Given the description of an element on the screen output the (x, y) to click on. 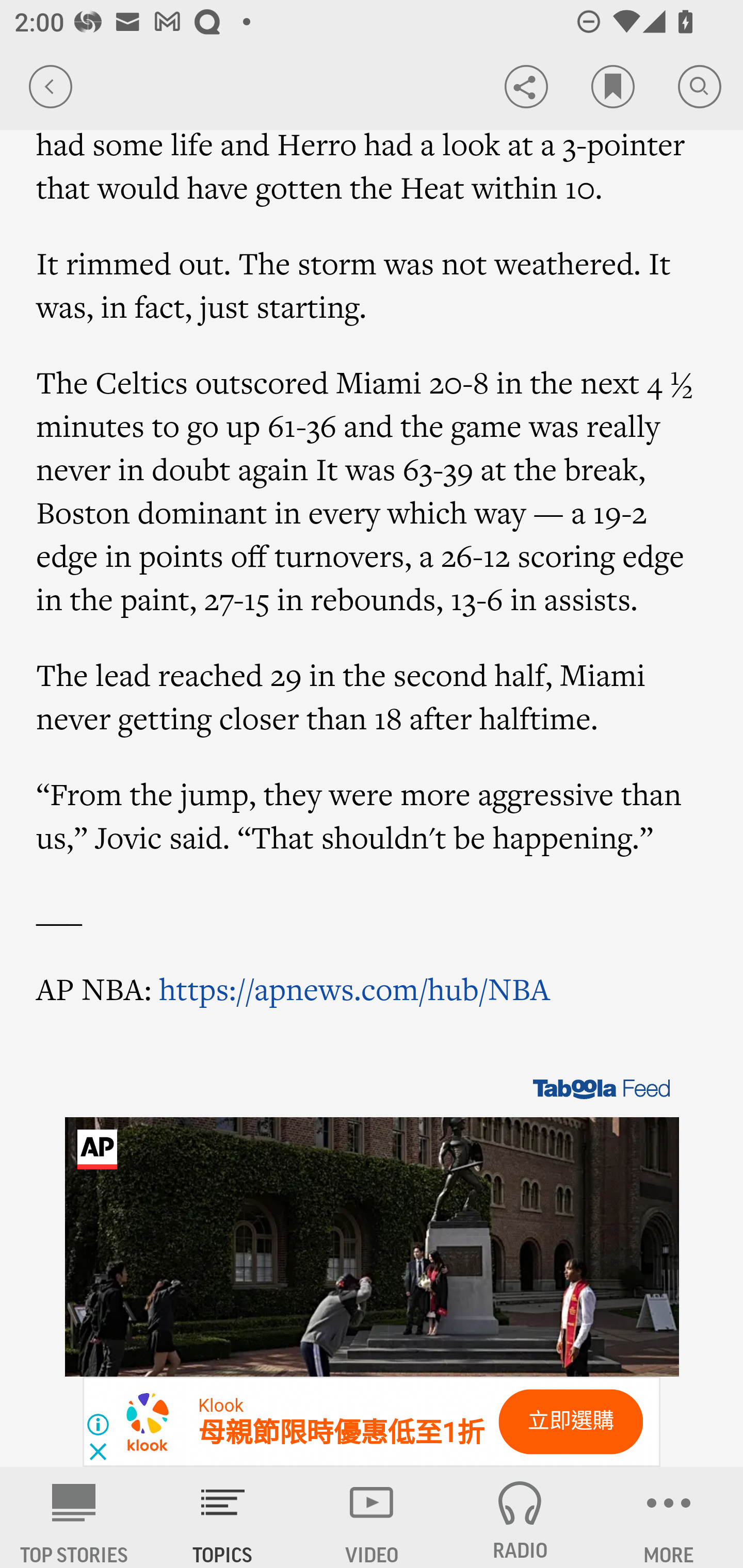
https://apnews.com/hub/NBA (354, 988)
立即選購 Klook 母親節限時優惠低至1折 立即選購 Klook 母親節限時優惠低至1折 (371, 1421)
AP News TOP STORIES (74, 1517)
TOPICS (222, 1517)
VIDEO (371, 1517)
RADIO (519, 1517)
MORE (668, 1517)
